Given the description of an element on the screen output the (x, y) to click on. 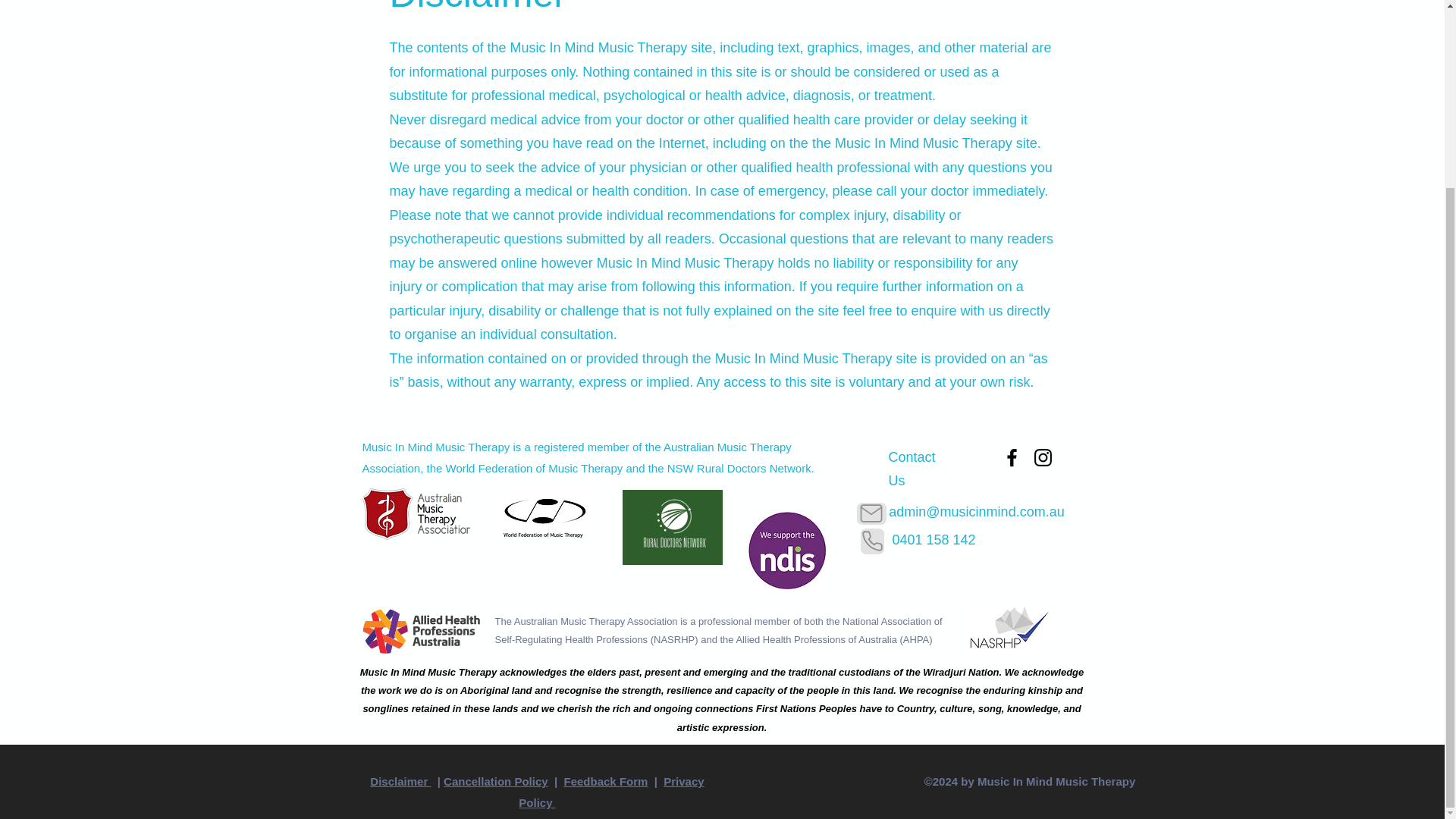
0401 158 142 (933, 539)
Cancellation Policy (496, 780)
Feedback Form (605, 780)
Privacy Policy  (610, 791)
NAsRHP-logo-wb-1.png (1008, 627)
AMTA Logo.png (416, 513)
Disclaimer  (399, 780)
Contact Us (912, 468)
